Given the description of an element on the screen output the (x, y) to click on. 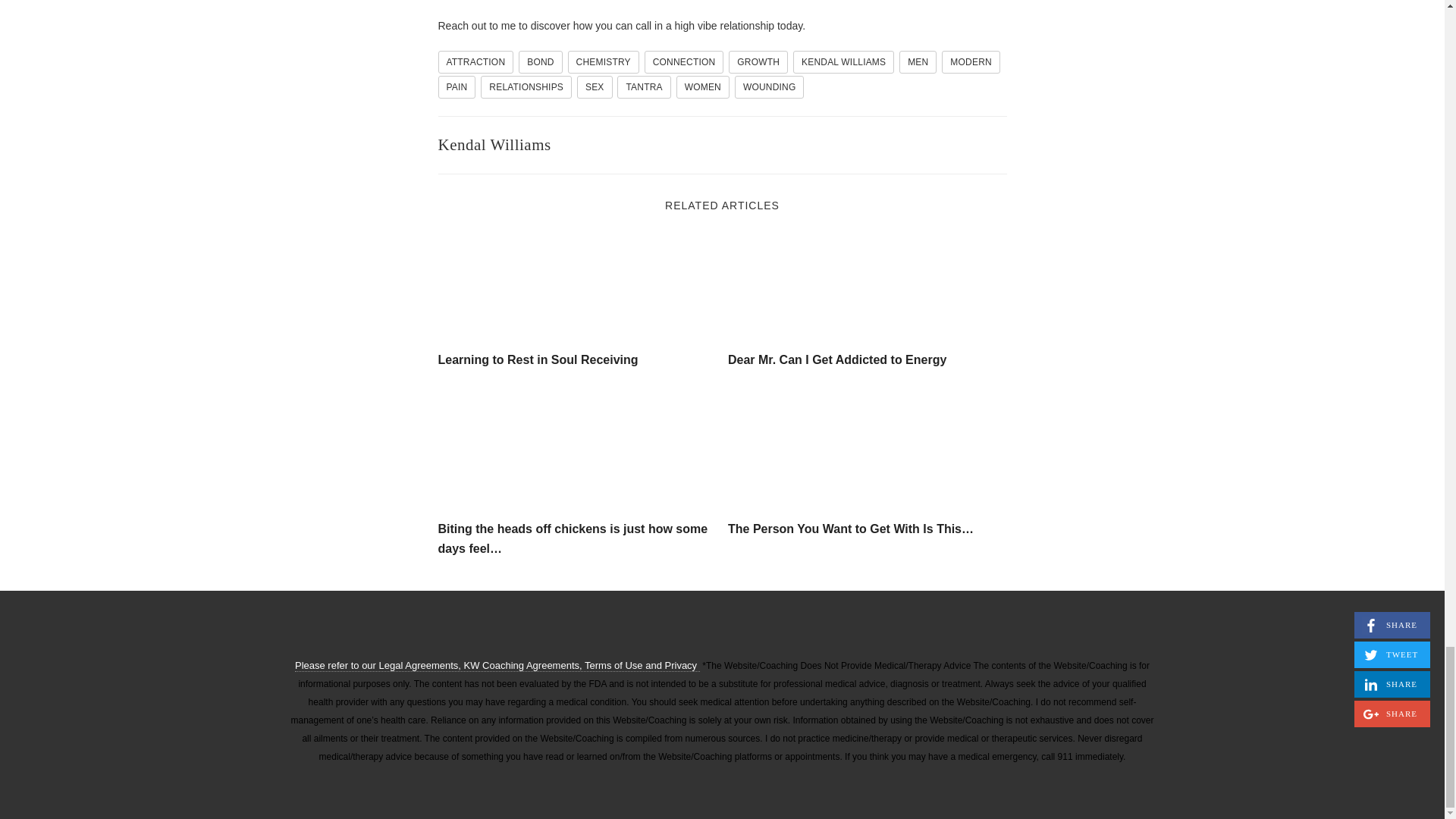
wounding Tag (770, 87)
CONNECTION (684, 61)
WOUNDING (770, 87)
SEX (594, 87)
BOND (540, 61)
sex Tag (594, 87)
WOMEN (703, 87)
PAIN (457, 87)
ATTRACTION (475, 61)
TANTRA (643, 87)
KENDAL WILLIAMS (843, 61)
relationships Tag (526, 87)
bond Tag (540, 61)
modern Tag (971, 61)
growth Tag (758, 61)
